Given the description of an element on the screen output the (x, y) to click on. 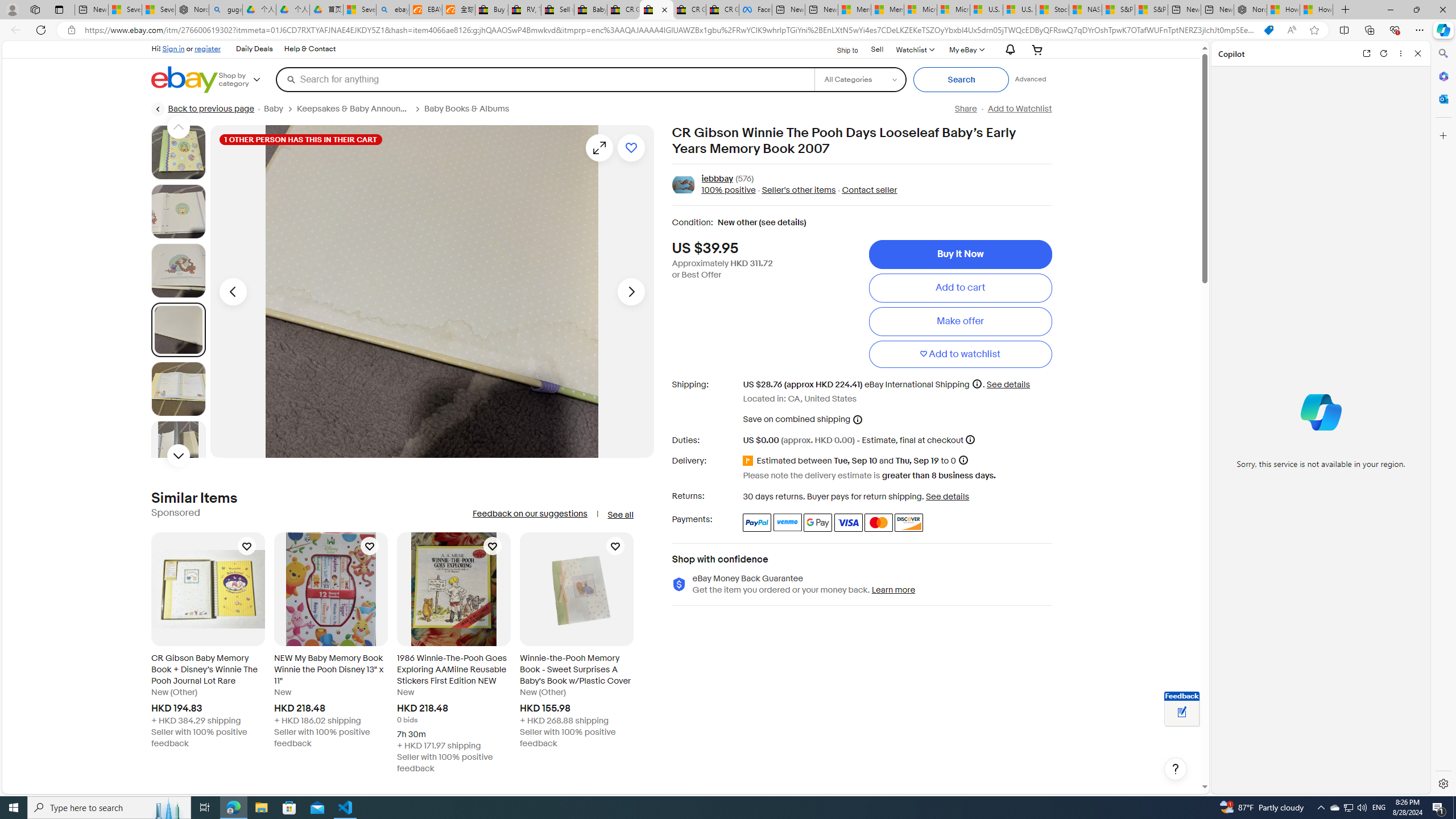
Open link in new tab (1366, 53)
More information (969, 439)
S&P 500, Nasdaq end lower, weighed by Nvidia dip | Watch (1150, 9)
Sign in (172, 48)
Sell worldwide with eBay (557, 9)
Add to watchlist (959, 353)
Shop by category (246, 79)
Buy It Now (959, 253)
Buy It Now (959, 253)
Previous image - Item images thumbnails (232, 291)
Next image - Item images thumbnails (631, 291)
